Given the description of an element on the screen output the (x, y) to click on. 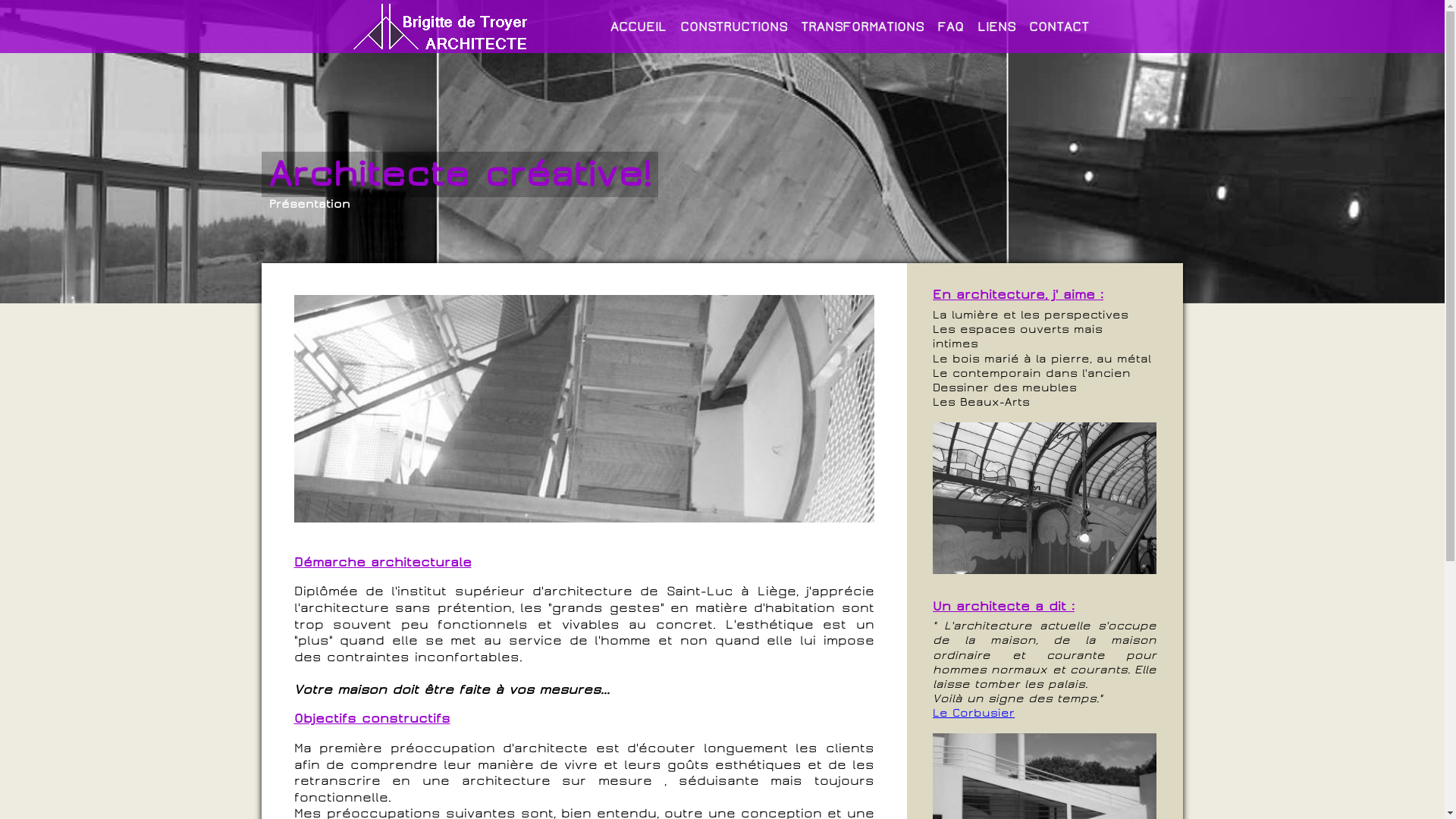
Le Corbusier Element type: text (973, 712)
CONTACT Element type: text (1058, 27)
TRANSFORMATIONS Element type: text (861, 27)
LIENS Element type: text (996, 27)
FAQ Element type: text (950, 27)
ACCUEIL Element type: text (638, 27)
CONSTRUCTIONS Element type: text (733, 27)
